Given the description of an element on the screen output the (x, y) to click on. 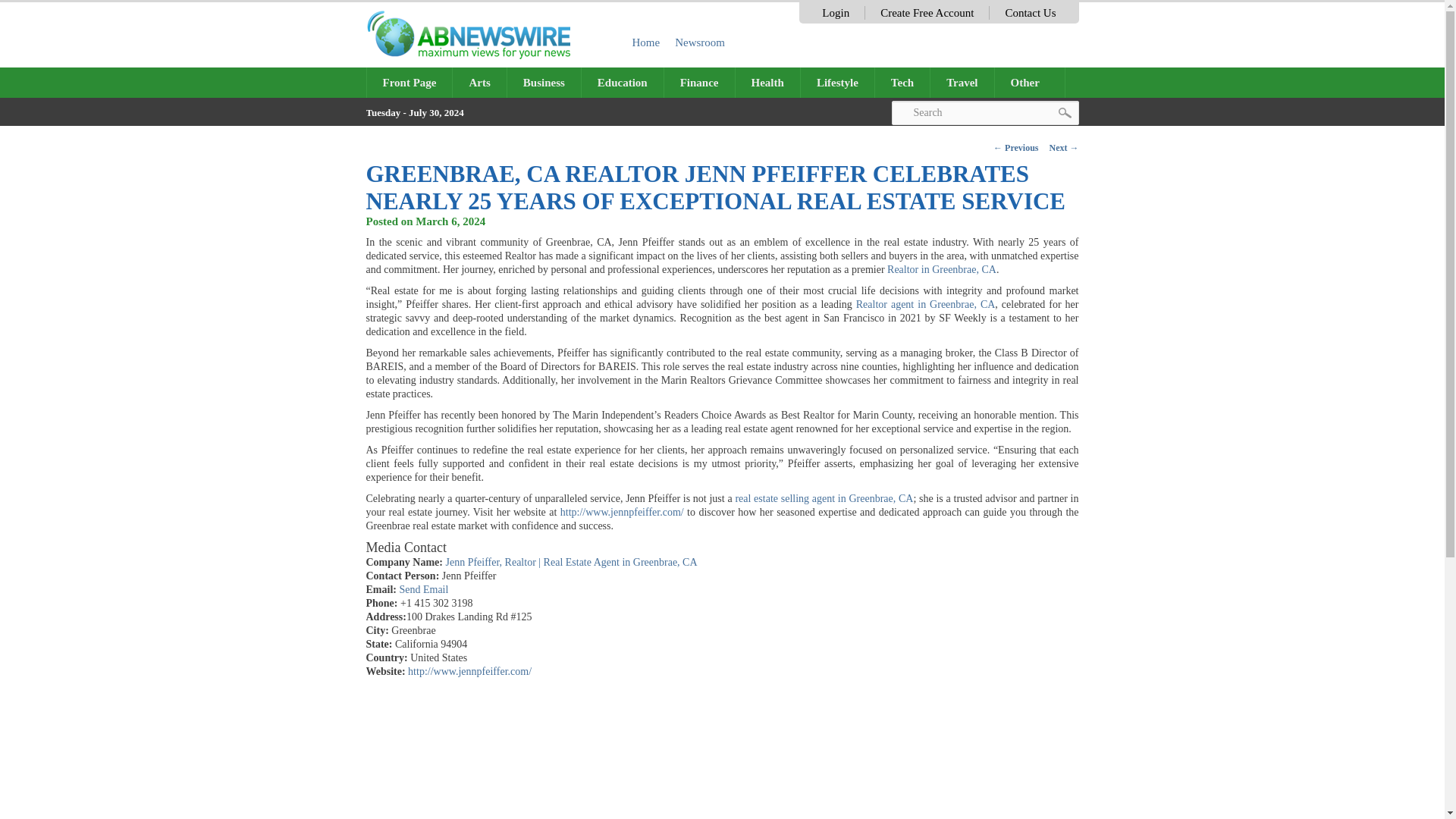
Search (984, 112)
Home (646, 42)
Finance (698, 82)
Tech (901, 82)
Arts (478, 82)
Front Page (409, 82)
Education (622, 82)
Contact Us (1030, 12)
Business (544, 82)
Search (984, 112)
Lifestyle (836, 82)
Newsroom (700, 42)
Other (1029, 82)
Login (835, 12)
Travel (961, 82)
